Given the description of an element on the screen output the (x, y) to click on. 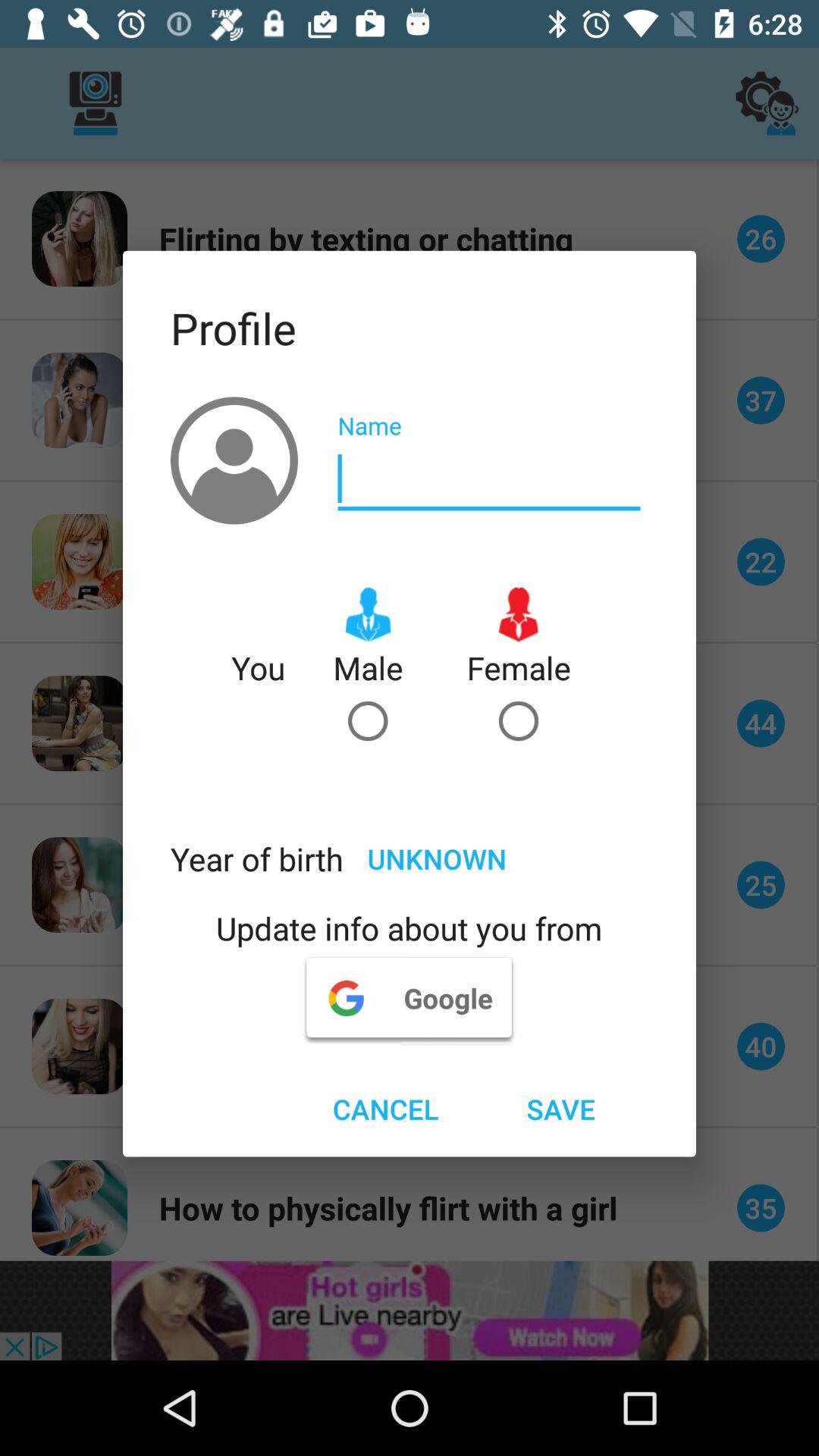
go to name putturn (488, 479)
